Given the description of an element on the screen output the (x, y) to click on. 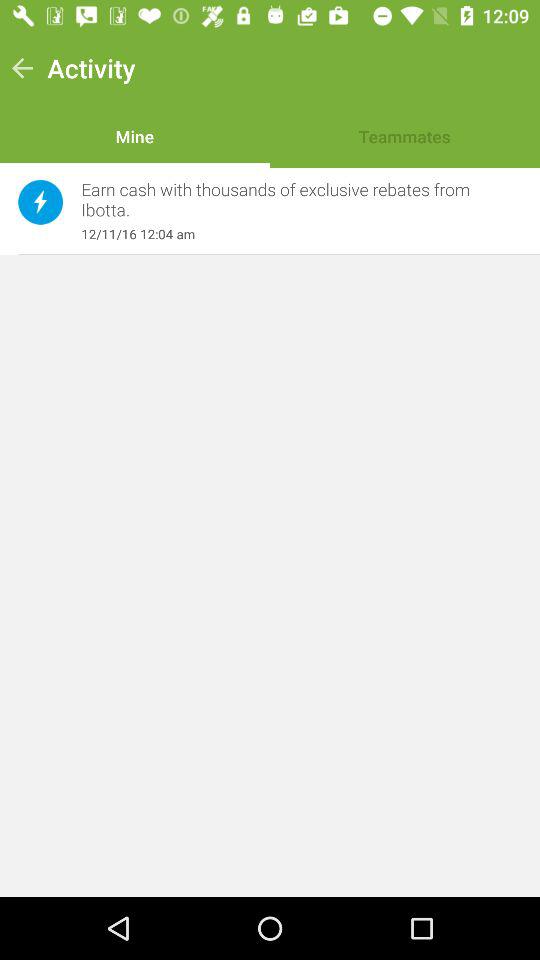
open icon to the left of earn cash with (40, 202)
